Given the description of an element on the screen output the (x, y) to click on. 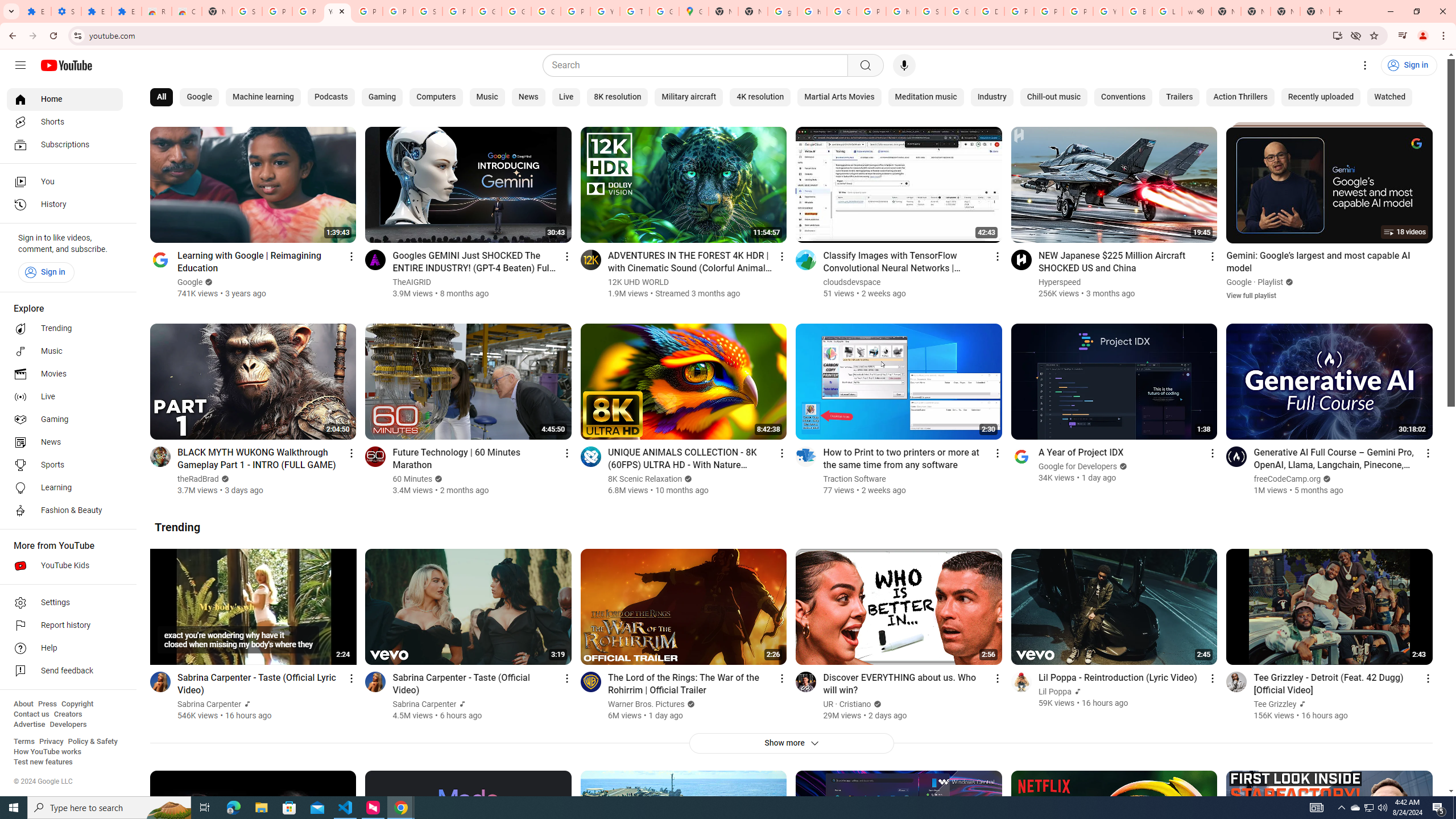
Search (865, 65)
Google for Developers (1078, 466)
New Tab (1314, 11)
Extensions (95, 11)
Google Maps (693, 11)
Test new features (42, 761)
Settings (1365, 65)
Live (64, 396)
Sign in - Google Accounts (930, 11)
Music (486, 97)
